Given the description of an element on the screen output the (x, y) to click on. 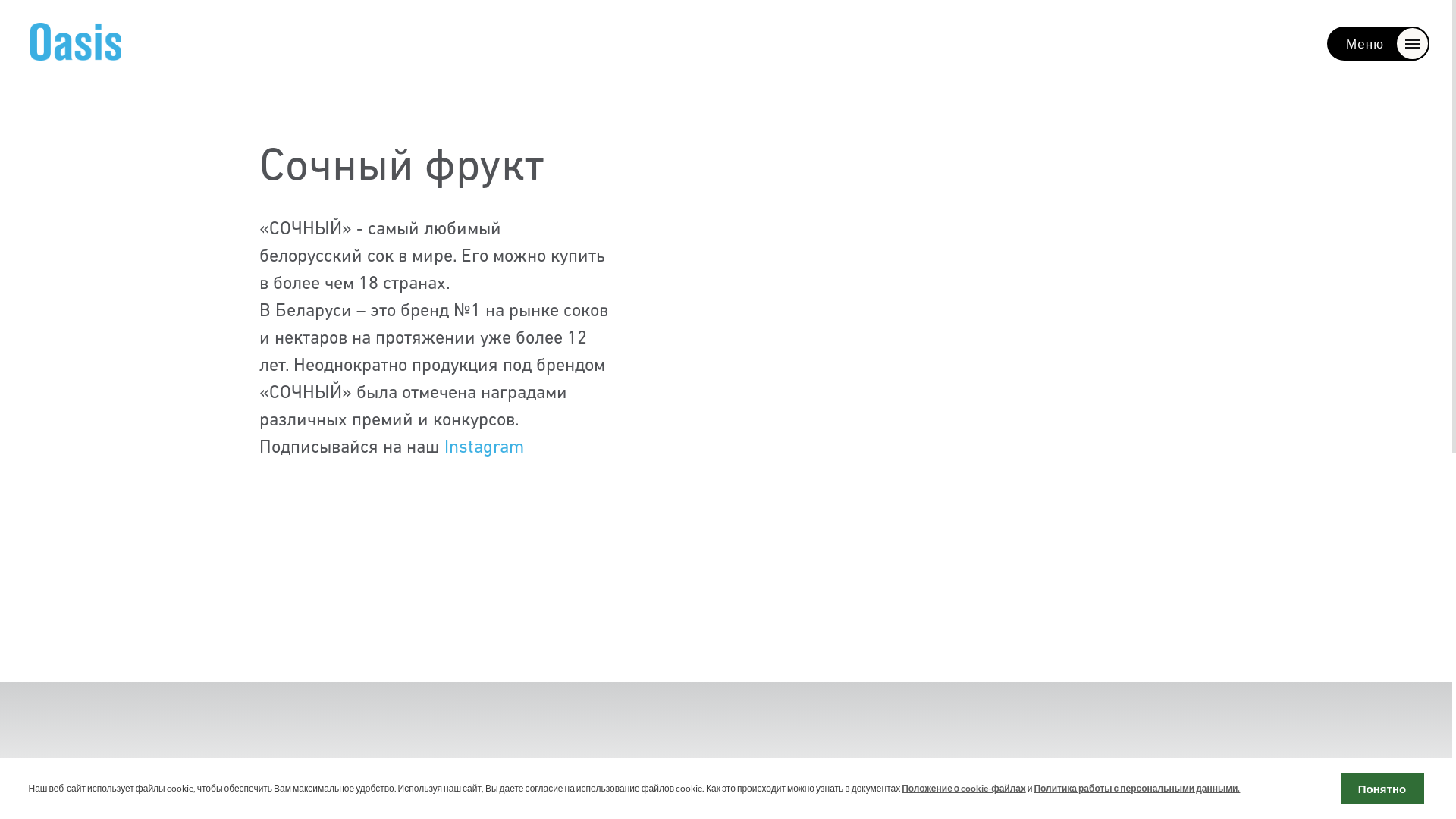
Instagram Element type: text (484, 448)
